Given the description of an element on the screen output the (x, y) to click on. 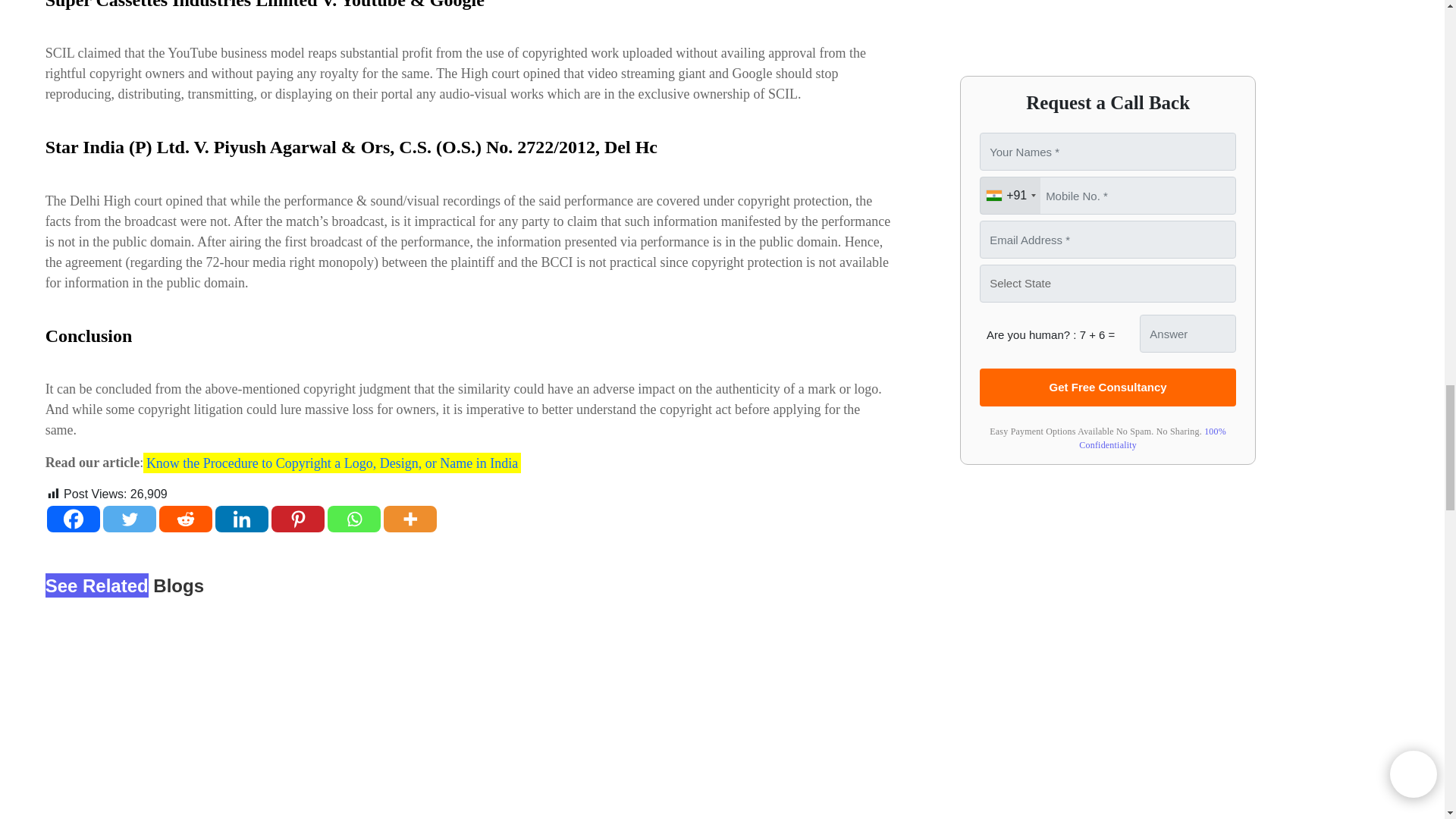
Reddit (185, 519)
Facebook (73, 519)
Twitter (129, 519)
Linkedin (241, 519)
Whatsapp (353, 519)
Pinterest (297, 519)
